Given the description of an element on the screen output the (x, y) to click on. 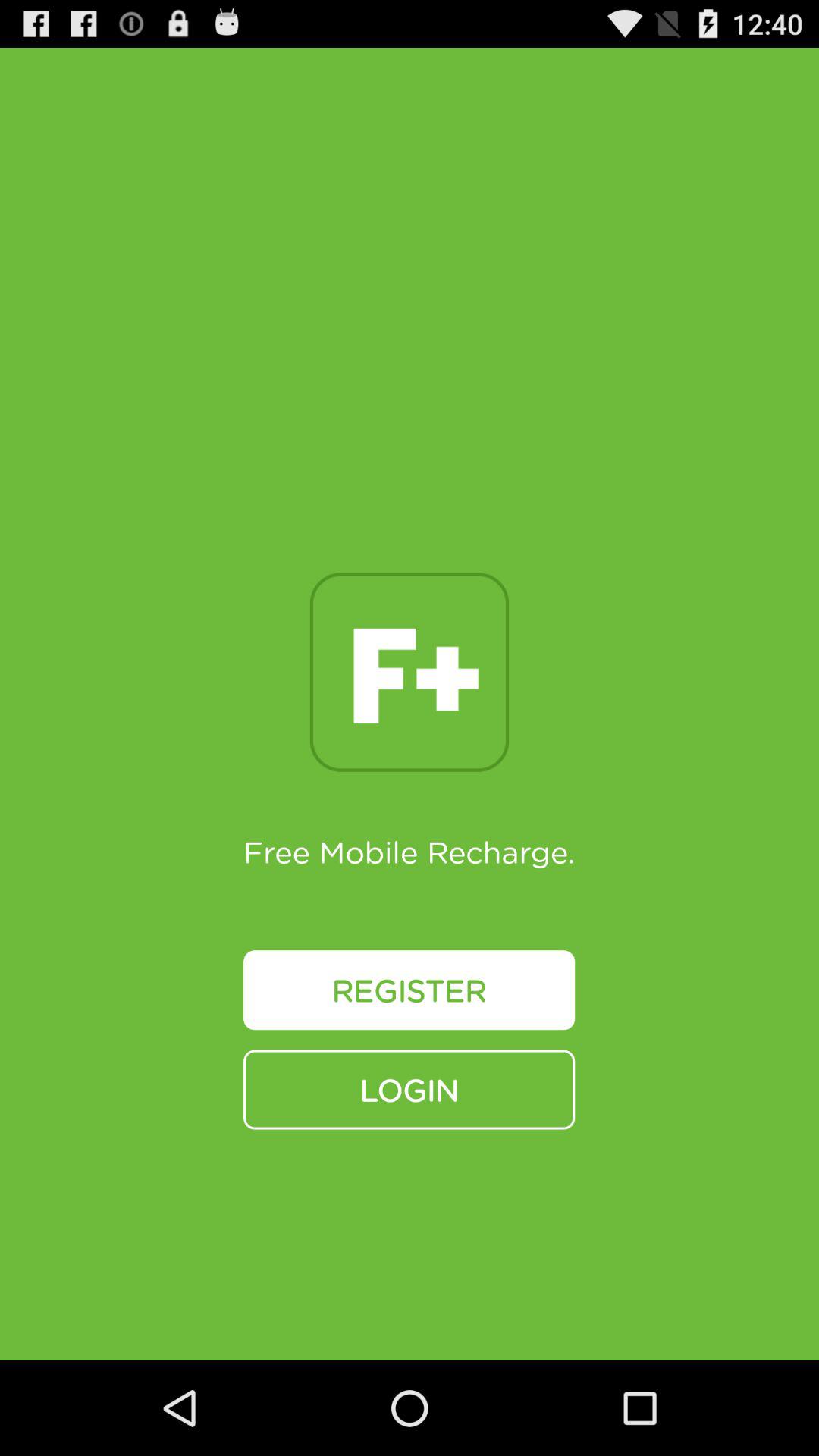
scroll to login icon (409, 1089)
